Given the description of an element on the screen output the (x, y) to click on. 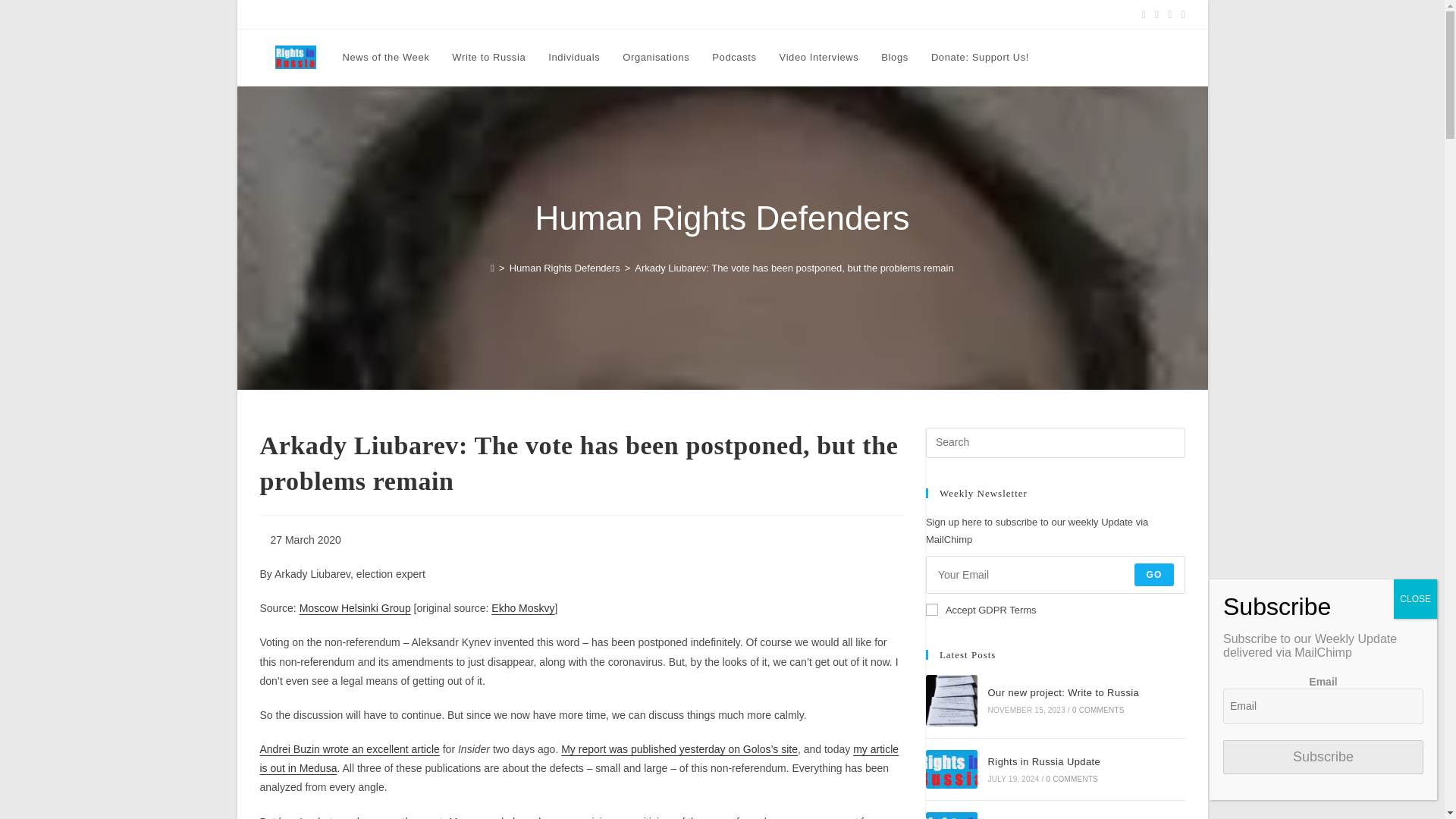
Podcasts (733, 57)
In Memoriam (806, 13)
Andrei Buzin wrote an excellent article (349, 748)
Our new project: Write to Russia (951, 700)
Organisations (655, 57)
Donate: Support Us! (980, 57)
my article is out in Medusa (578, 757)
About us (707, 13)
News of the Week (385, 57)
Rights in Russia Update (951, 769)
Individuals (574, 57)
Blogs (894, 57)
Events (504, 13)
Ekho Moskvy (523, 607)
Contact (752, 13)
